Given the description of an element on the screen output the (x, y) to click on. 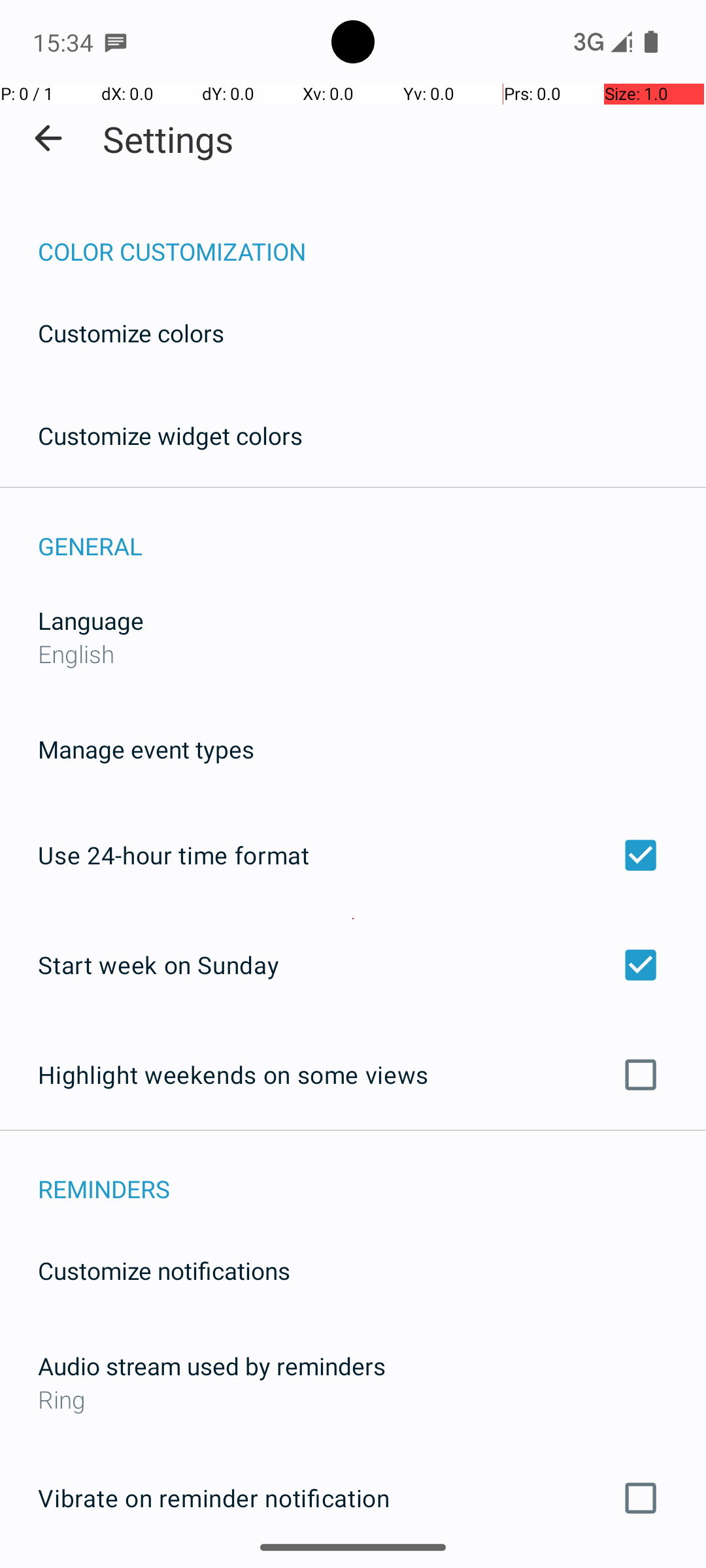
COLOR CUSTOMIZATION Element type: android.widget.TextView (371, 237)
REMINDERS Element type: android.widget.TextView (371, 1174)
Customize widget colors Element type: android.widget.TextView (170, 435)
English Element type: android.widget.TextView (75, 653)
Use 24-hour time format Element type: android.widget.CheckBox (352, 855)
Start week on Sunday Element type: android.widget.CheckBox (352, 964)
Highlight weekends on some views Element type: android.widget.CheckBox (352, 1074)
Customize notifications Element type: android.widget.TextView (163, 1270)
Audio stream used by reminders Element type: android.widget.TextView (211, 1365)
Ring Element type: android.widget.TextView (352, 1398)
Vibrate on reminder notification Element type: android.widget.CheckBox (352, 1497)
Loop reminders until dismissed Element type: android.widget.CheckBox (352, 1567)
